Given the description of an element on the screen output the (x, y) to click on. 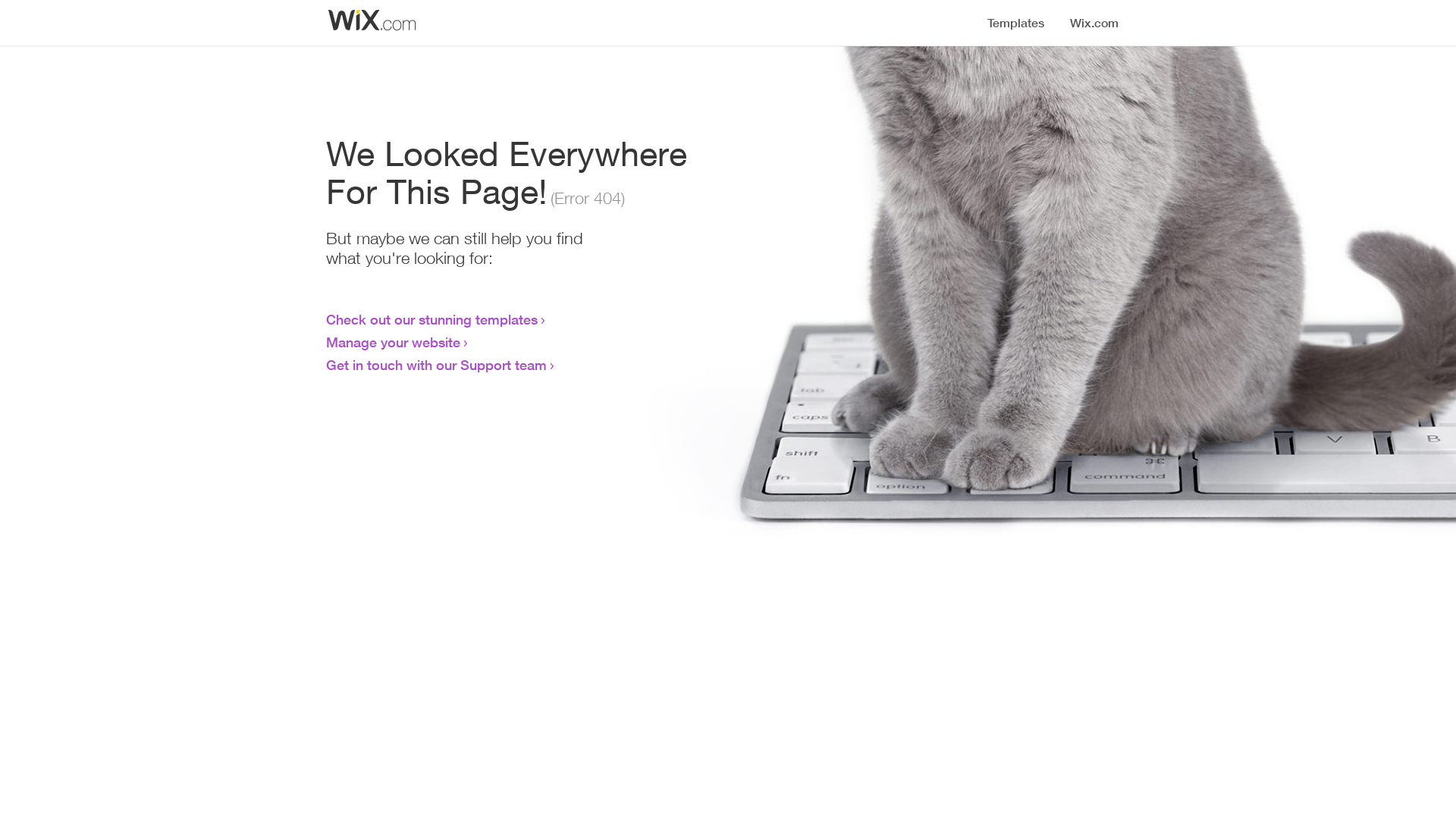
Get in touch with our Support team Element type: text (436, 364)
Manage your website Element type: text (393, 341)
Check out our stunning templates Element type: text (431, 318)
